Given the description of an element on the screen output the (x, y) to click on. 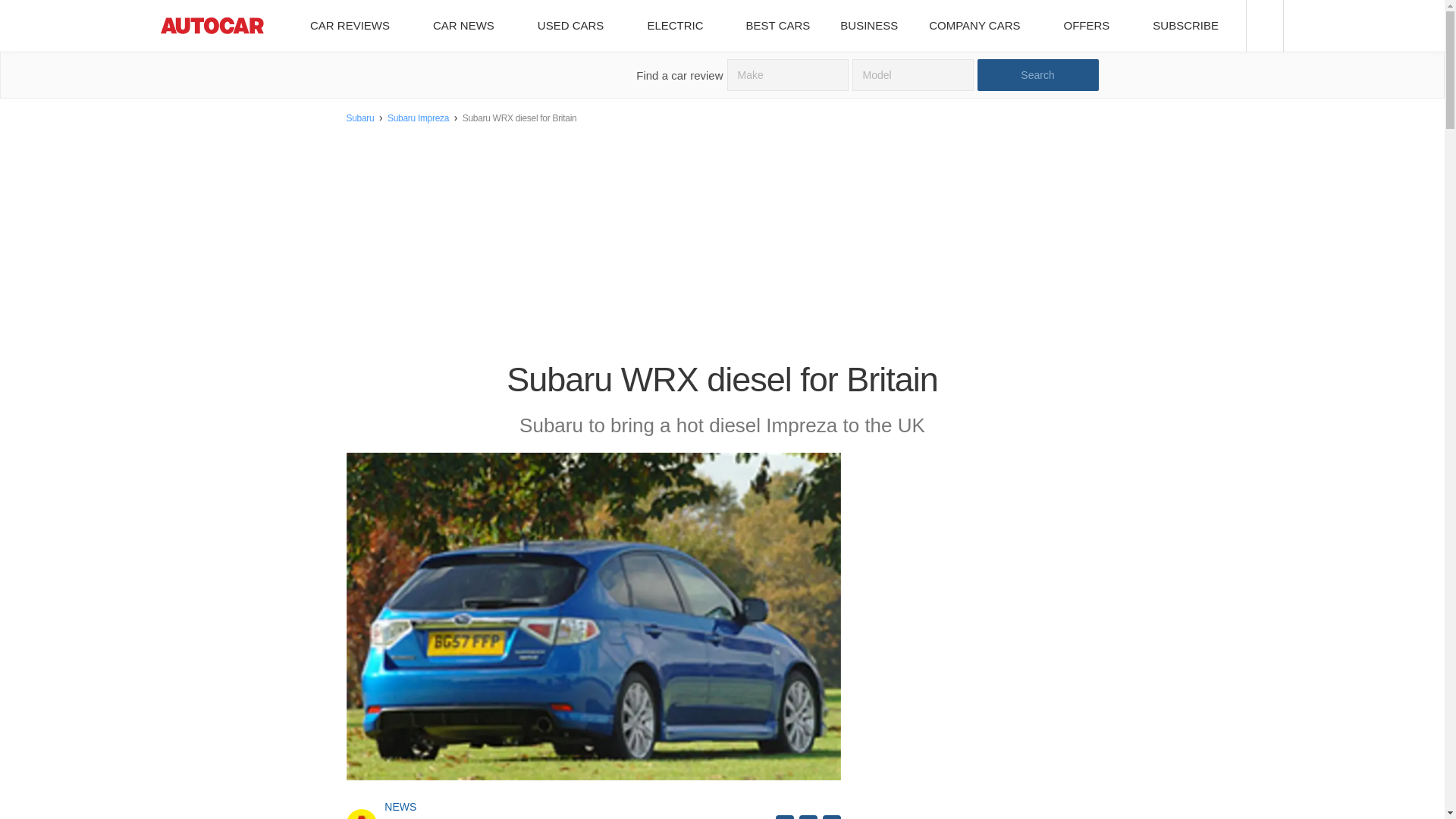
USED CARS (576, 26)
BEST CARS (777, 26)
SUBSCRIBE (1191, 26)
Home (211, 25)
BUSINESS (868, 26)
COMPANY CARS (979, 26)
OFFERS (1091, 26)
Search (1036, 74)
Autocar Electric (680, 26)
CAR REVIEWS (355, 26)
Search (1036, 74)
CAR NEWS (468, 26)
Top 10 cars by segment (777, 26)
ELECTRIC (680, 26)
Autocar Business news, insight and opinion (868, 26)
